Given the description of an element on the screen output the (x, y) to click on. 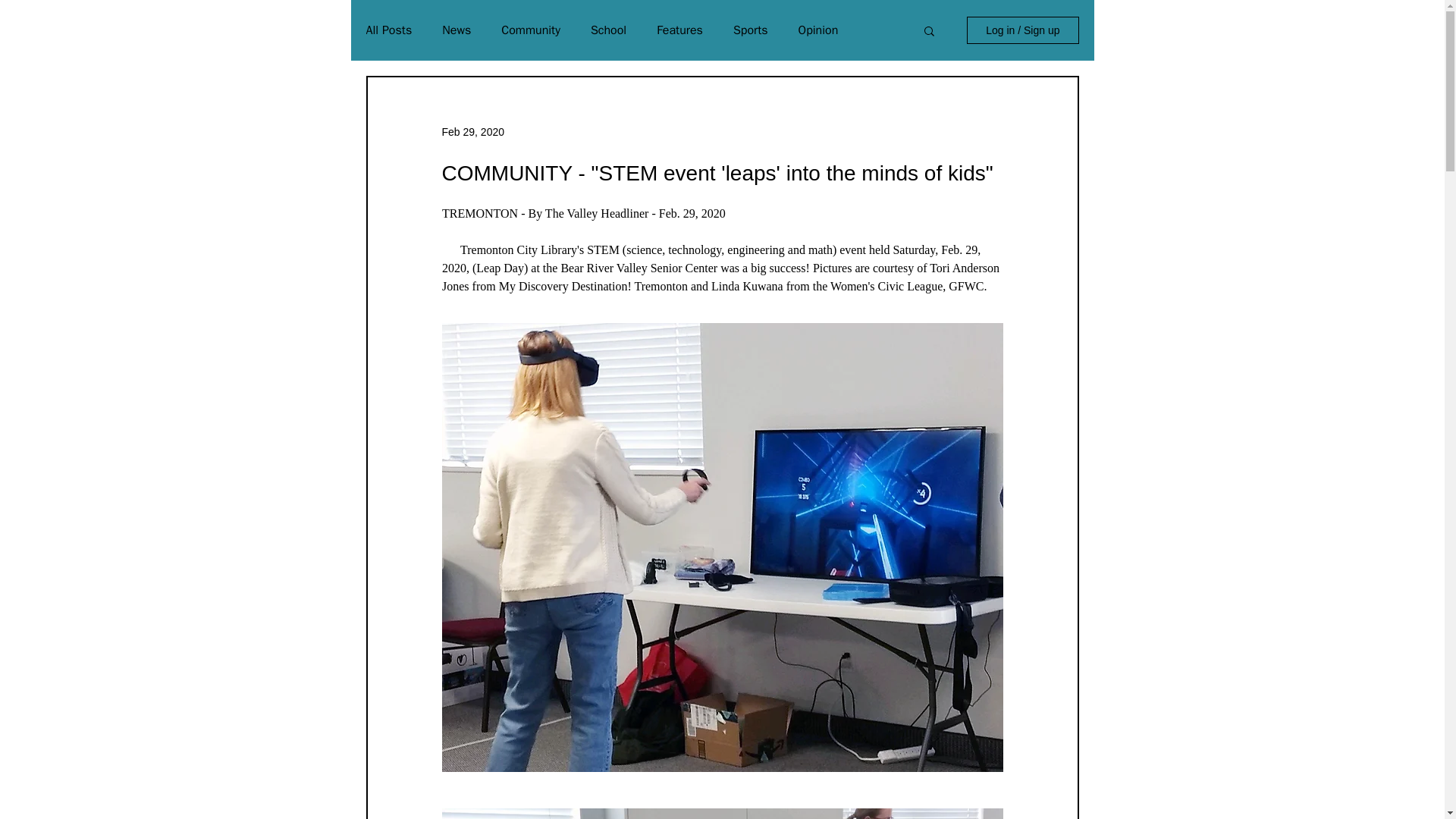
Opinion (817, 30)
Community (530, 30)
School (608, 30)
Feb 29, 2020 (472, 132)
Features (679, 30)
All Posts (388, 30)
Sports (750, 30)
News (456, 30)
